Given the description of an element on the screen output the (x, y) to click on. 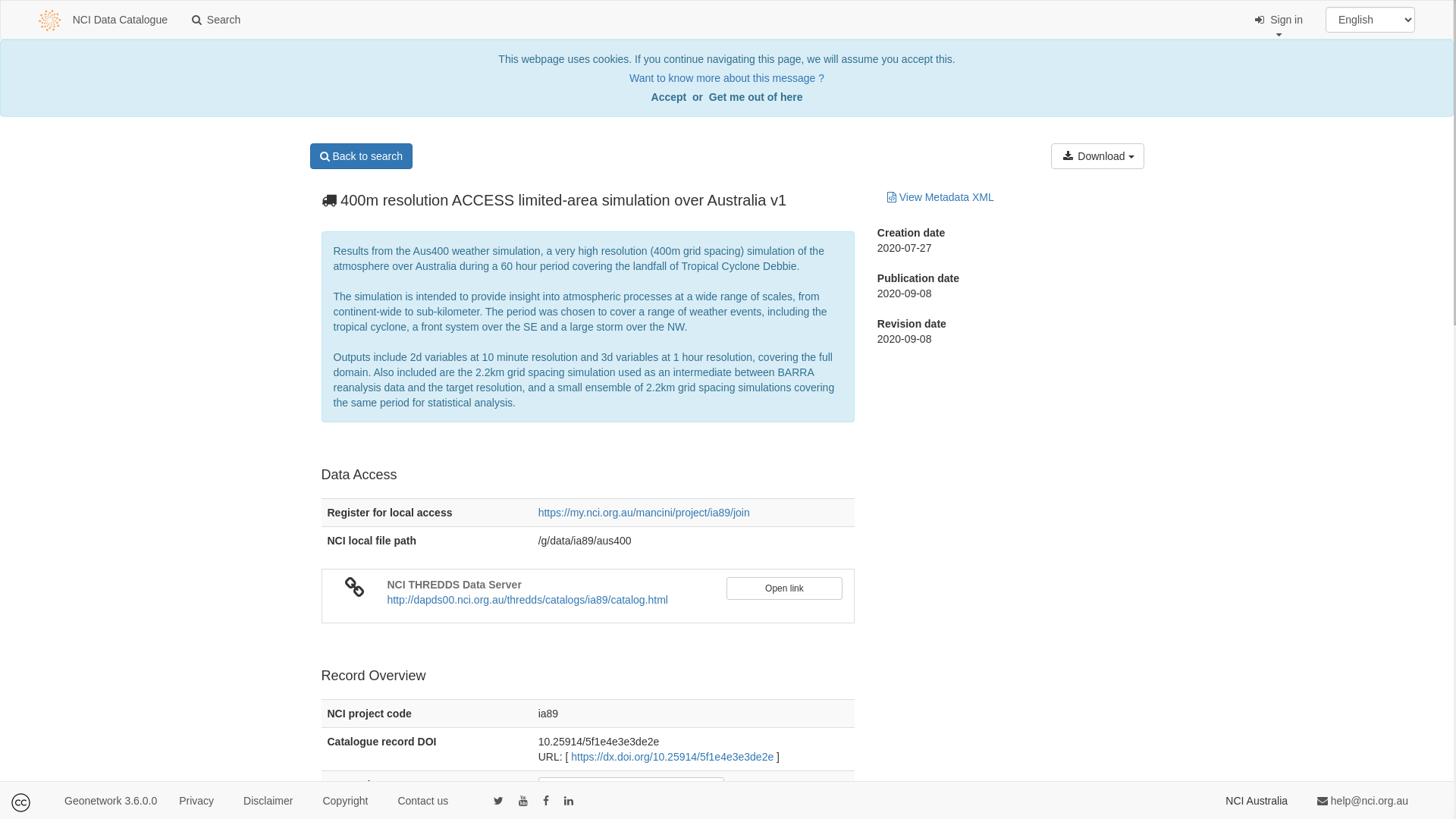
NCI Data Catalogue Element type: text (125, 19)
Want to know more about this message ? Element type: text (726, 78)
  Climatology, meteorology, atmosphere Element type: text (631, 788)
  Sign in Element type: text (1278, 19)
View Metadata XML Element type: text (940, 197)
Open link Element type: text (784, 588)
https://my.nci.org.au/mancini/project/ia89/join Element type: text (643, 512)
Download Element type: text (1097, 156)
help@nci.org.au Element type: text (1362, 800)
https://dx.doi.org/10.25914/5f1e4e3e3de2e Element type: text (672, 756)
Search Element type: text (214, 19)
Back to search Element type: text (360, 156)
http://dapds00.nci.org.au/thredds/catalogs/ia89/catalog.html Element type: text (526, 599)
